Given the description of an element on the screen output the (x, y) to click on. 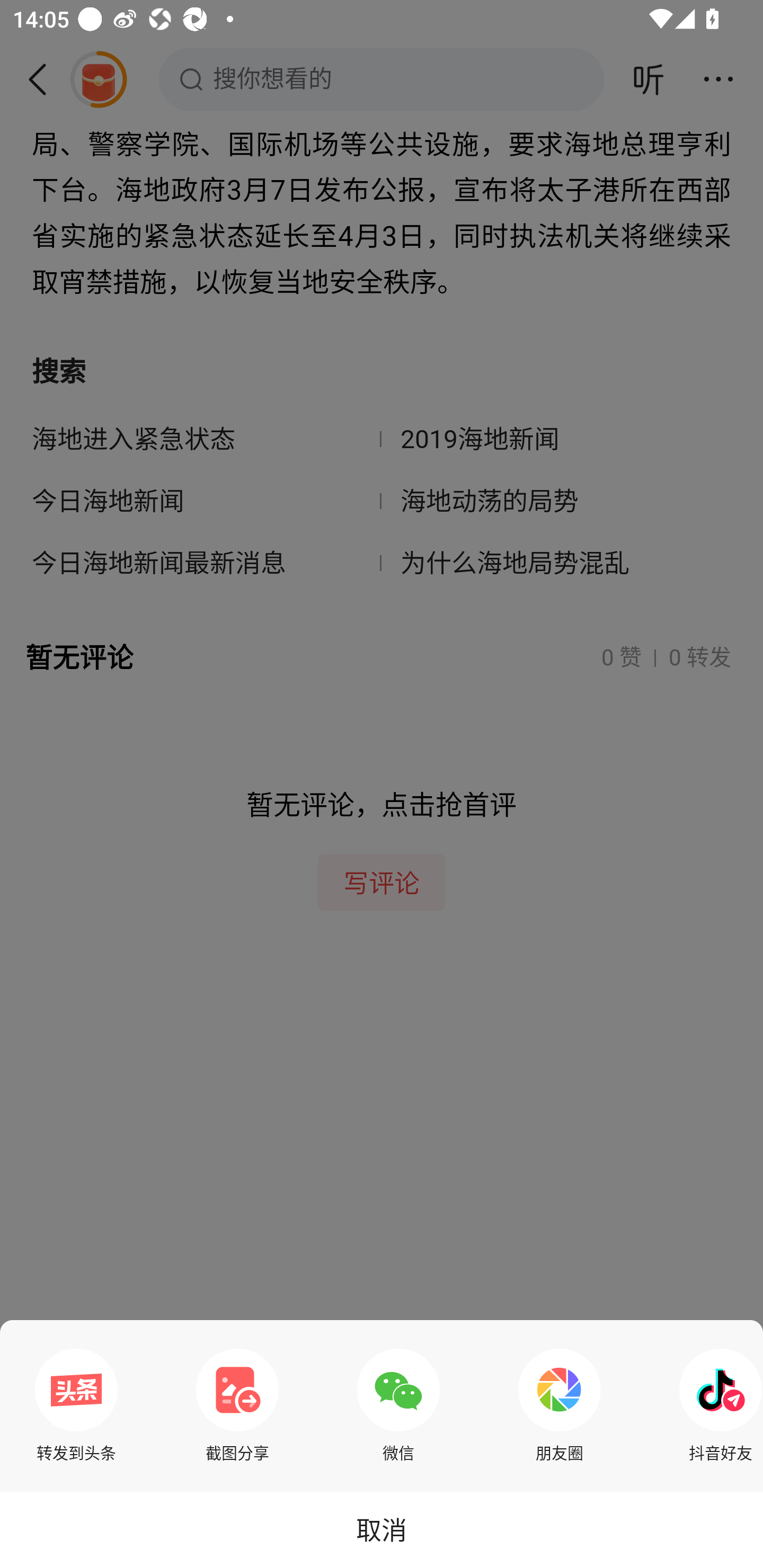
转发到头条 (76, 1405)
截图分享 (237, 1405)
微信 (398, 1405)
朋友圈 (559, 1405)
抖音好友 (716, 1405)
取消 (381, 1529)
